Given the description of an element on the screen output the (x, y) to click on. 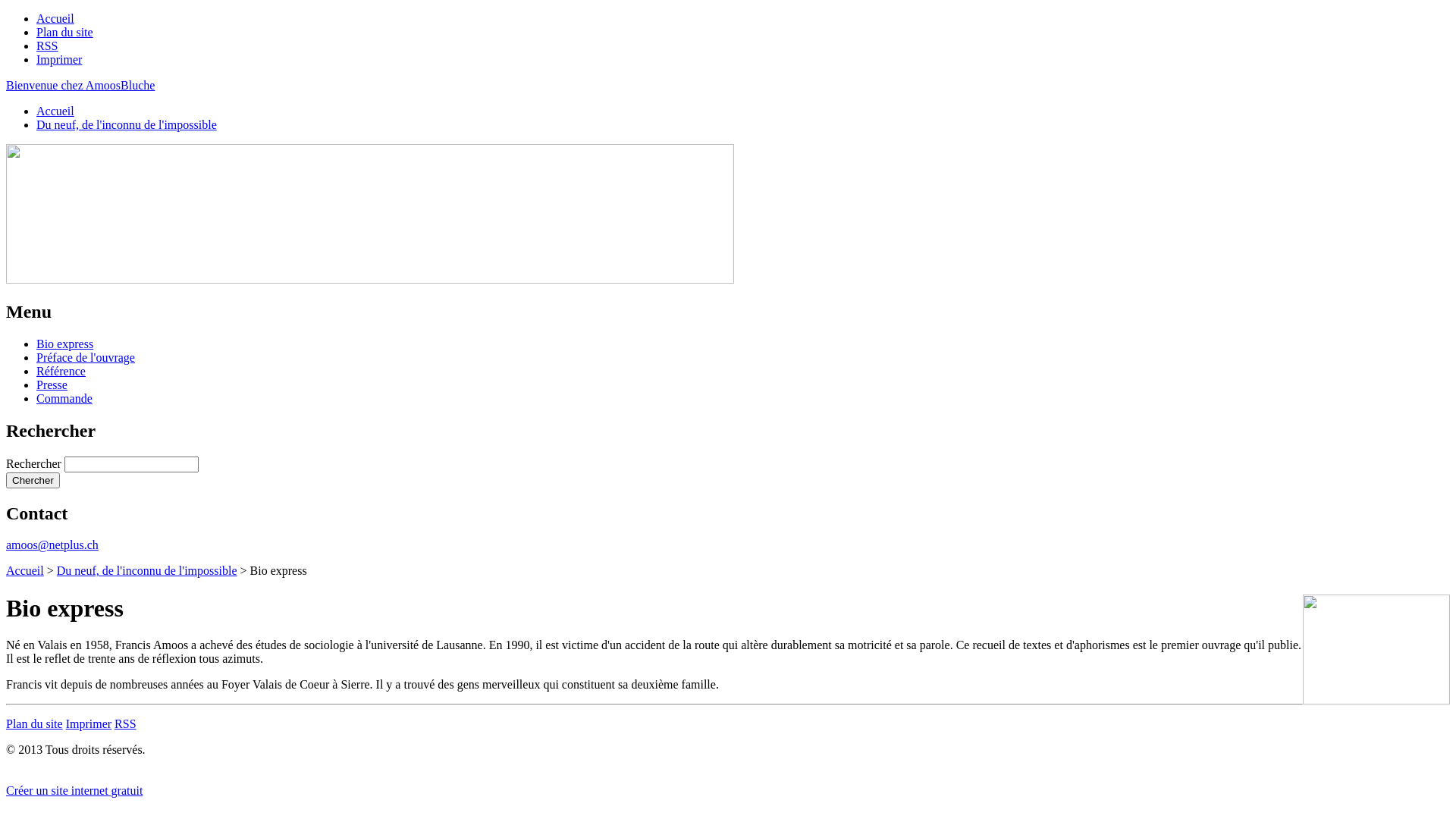
Bienvenue chez AmoosBluche Element type: text (80, 84)
Presse Element type: text (51, 384)
Plan du site Element type: text (64, 31)
Du neuf, de l'inconnu de l'impossible Element type: text (126, 124)
Bio express Element type: text (64, 343)
RSS Element type: text (124, 723)
Accueil Element type: text (24, 570)
Chercher Element type: text (32, 480)
Imprimer Element type: text (88, 723)
Plan du site Element type: text (34, 723)
amoos@netplus.ch Element type: text (52, 544)
Accueil Element type: text (55, 18)
Imprimer Element type: text (58, 59)
Du neuf, de l'inconnu de l'impossible Element type: text (146, 570)
Accueil Element type: text (55, 110)
RSS Element type: text (46, 45)
Commande Element type: text (64, 398)
